Given the description of an element on the screen output the (x, y) to click on. 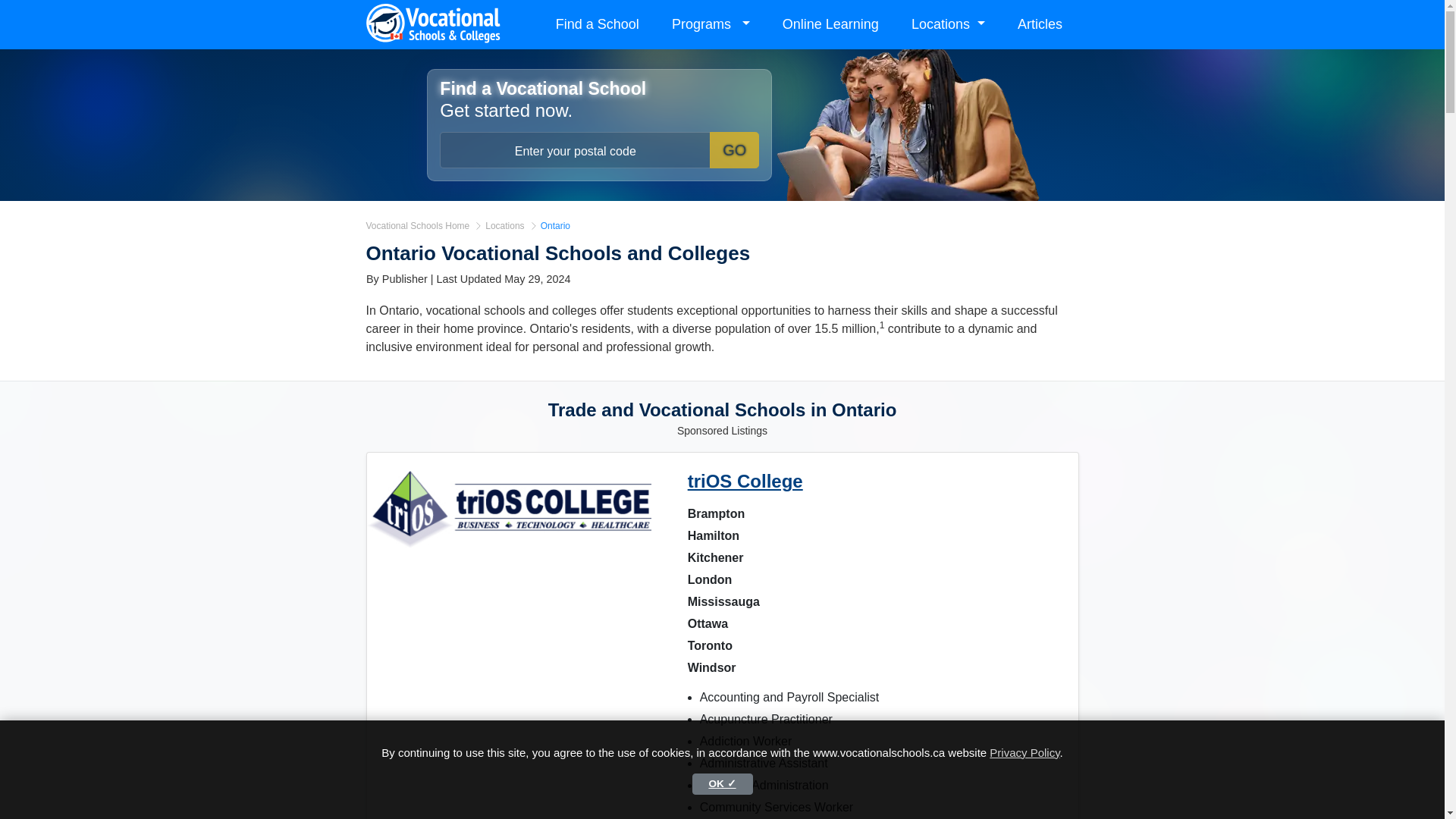
Home (419, 225)
Locations (505, 225)
Find a School (597, 24)
Programs (710, 24)
